Given the description of an element on the screen output the (x, y) to click on. 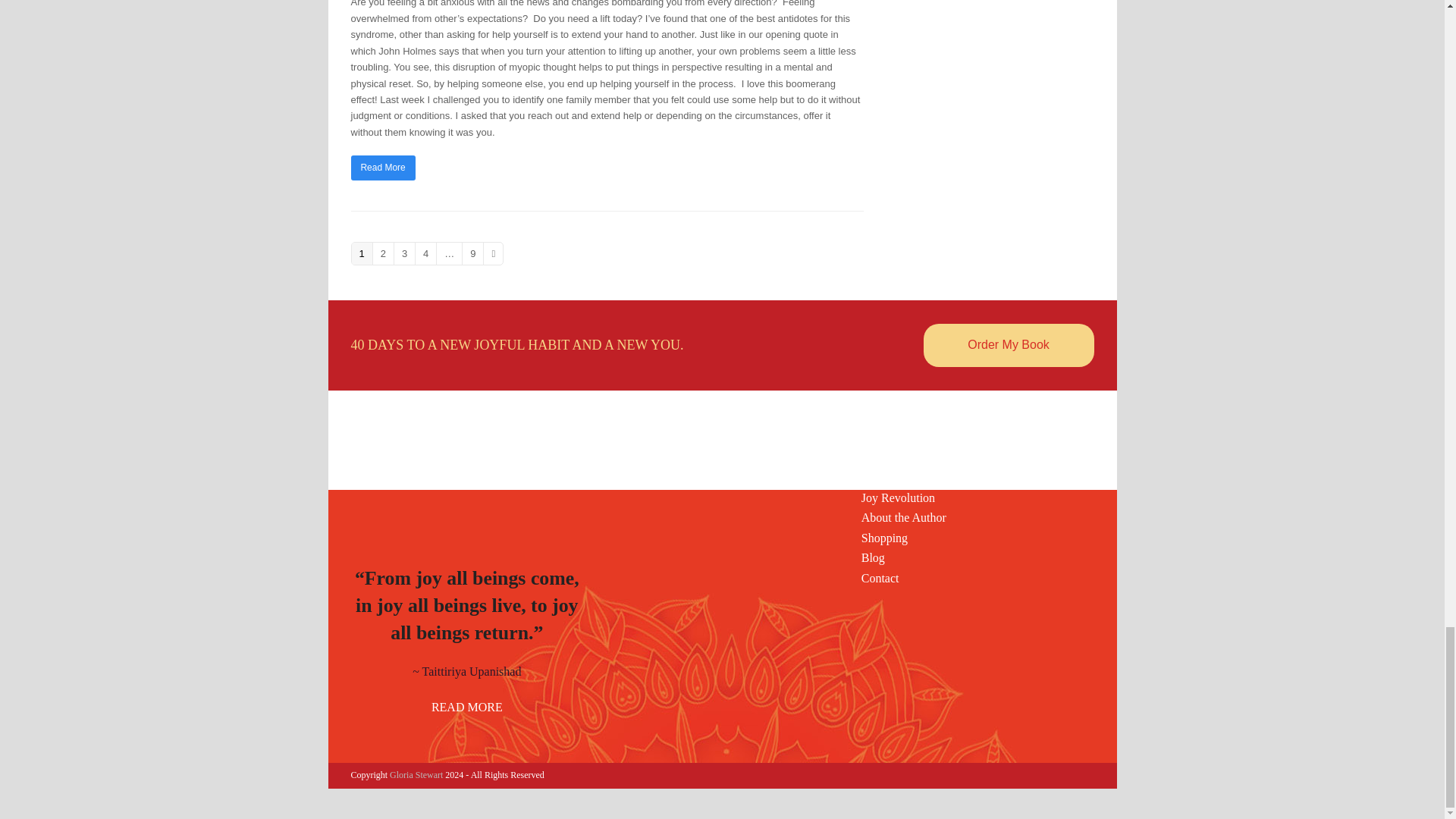
Youtube (734, 475)
Facebook (708, 475)
